Given the description of an element on the screen output the (x, y) to click on. 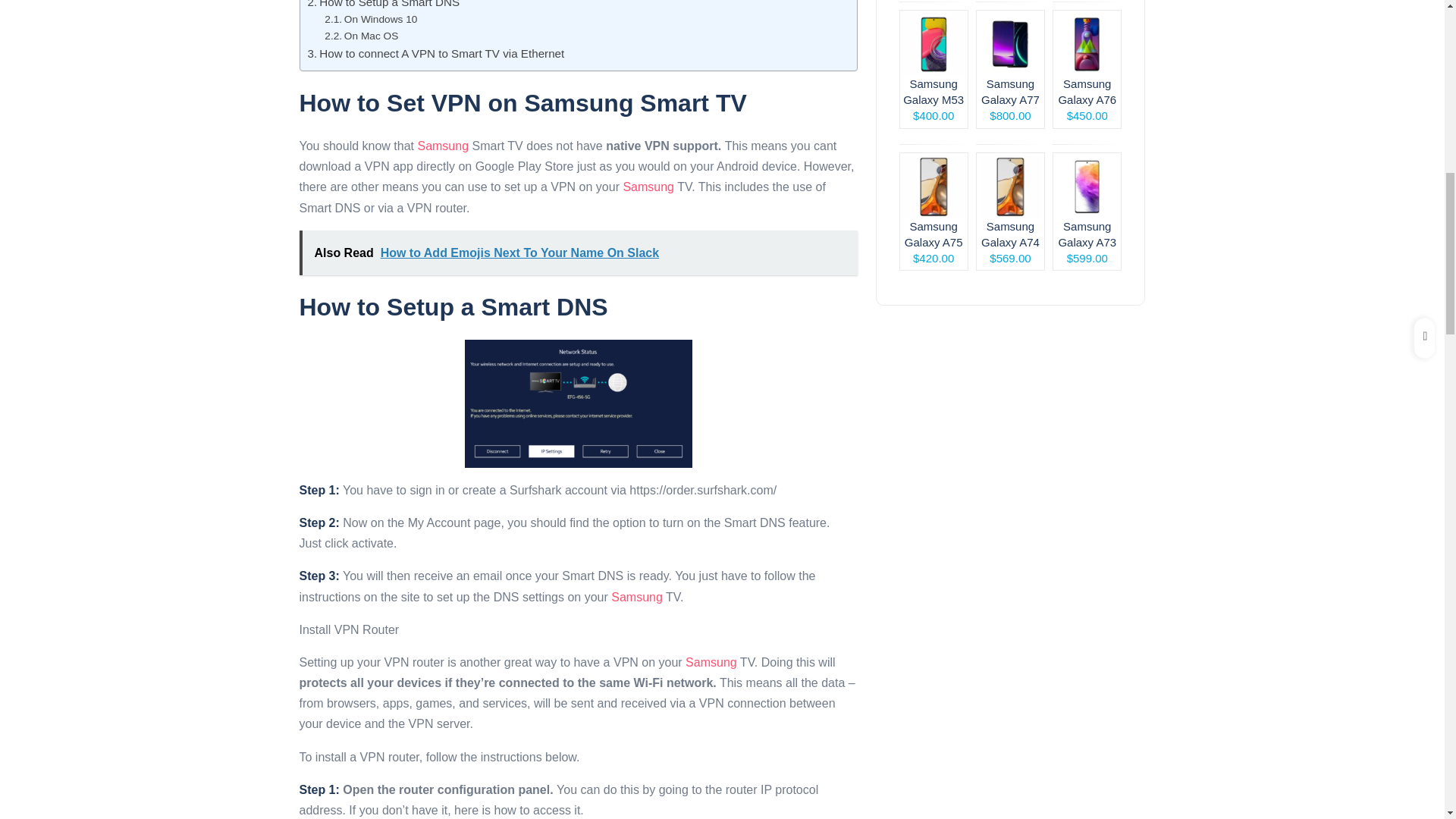
How to connect A VPN to Smart TV via Ethernet (435, 54)
On Windows 10 (370, 19)
On Mac OS (360, 36)
How to Setup a Smart DNS (383, 5)
